Given the description of an element on the screen output the (x, y) to click on. 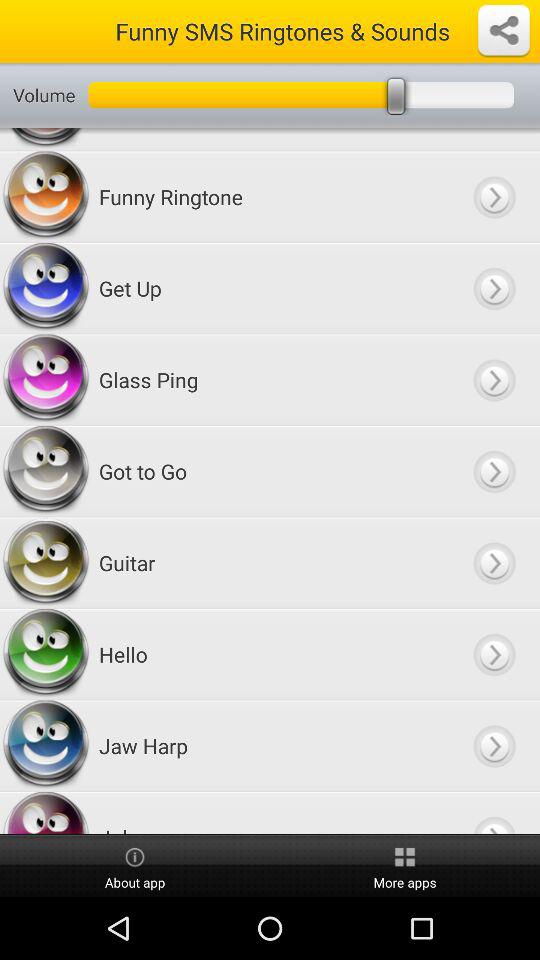
go to option (494, 562)
